Given the description of an element on the screen output the (x, y) to click on. 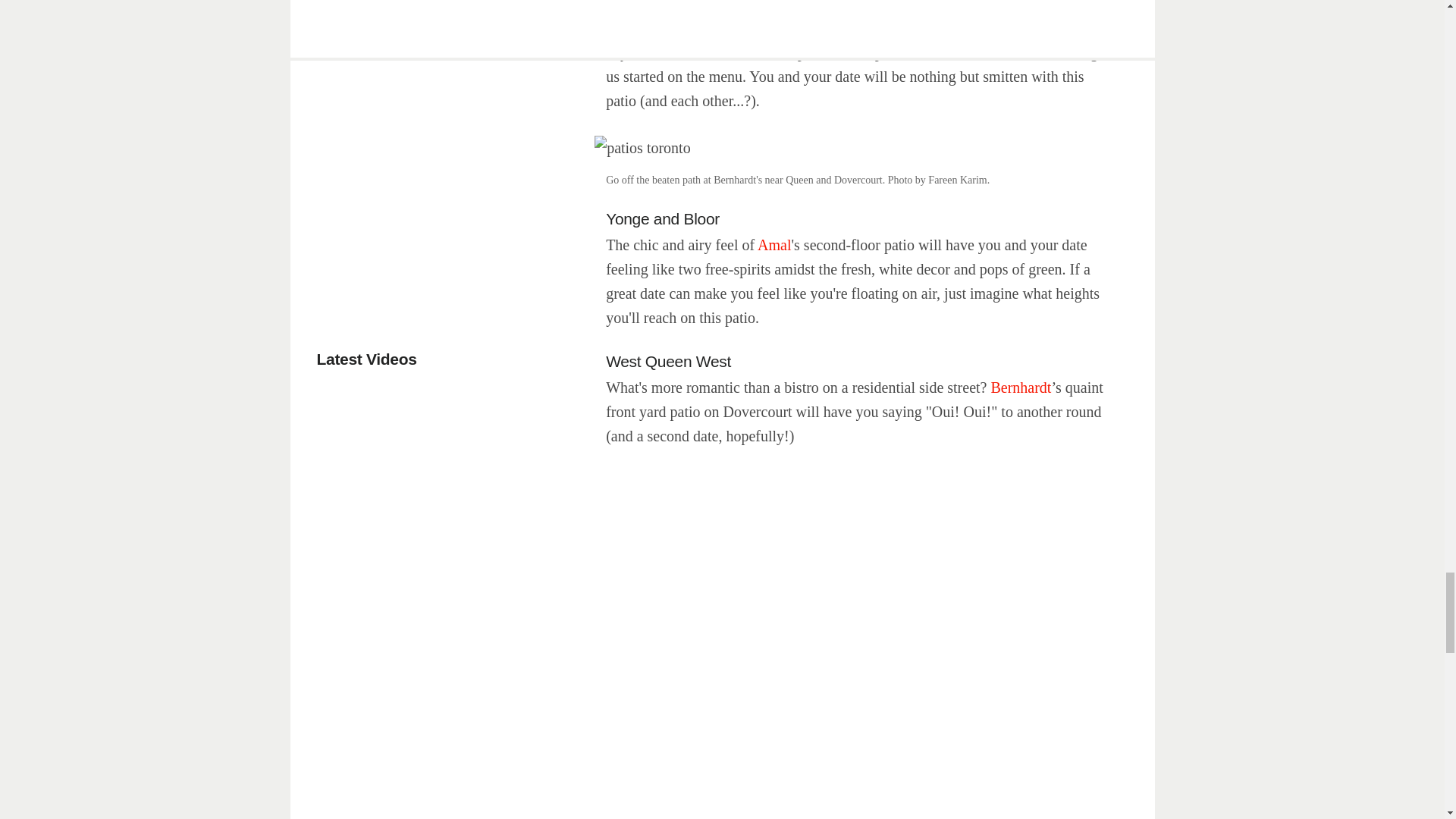
Amal (773, 244)
Bernhardt (1020, 387)
Mercado Negro (824, 27)
